Given the description of an element on the screen output the (x, y) to click on. 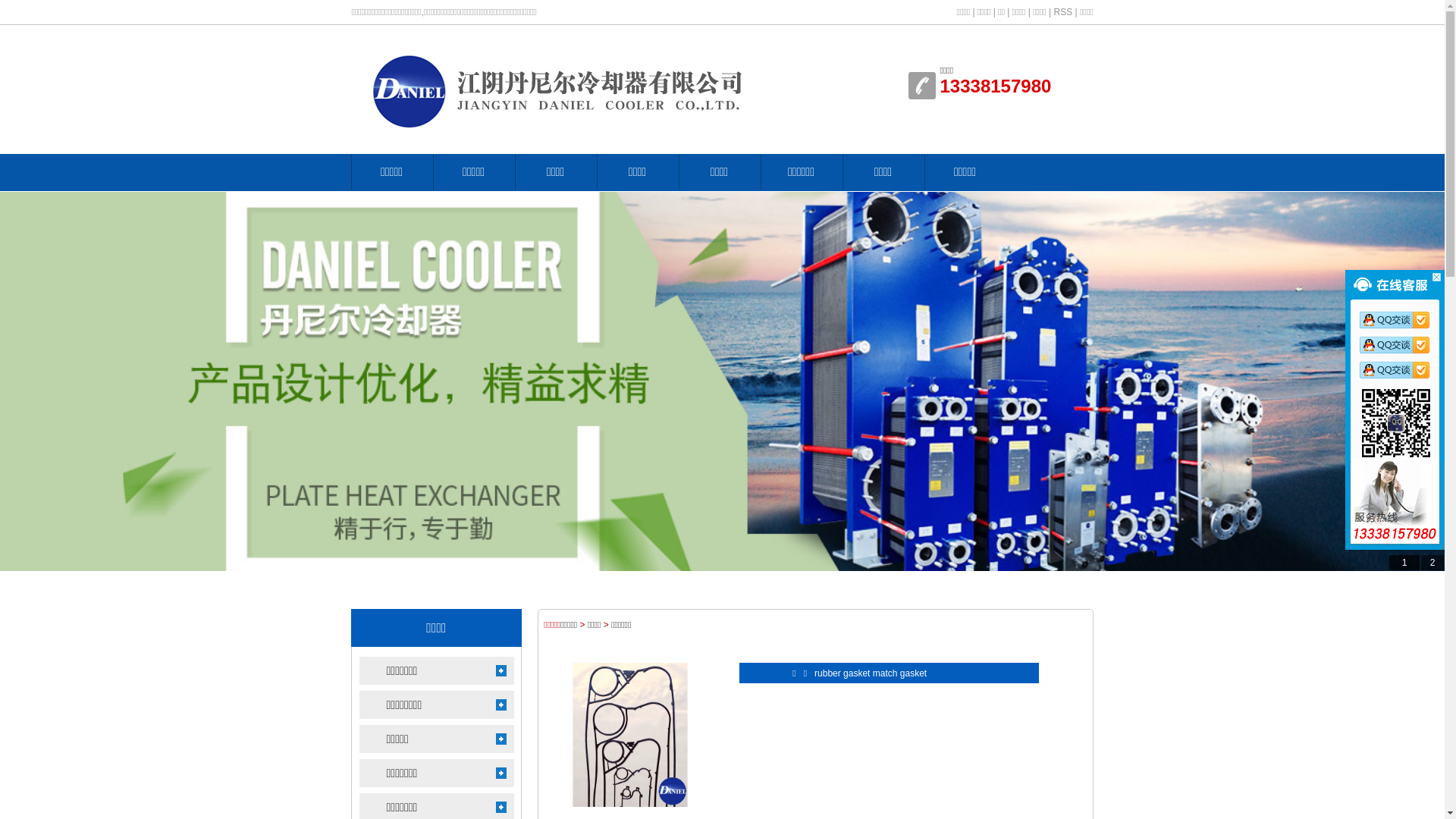
RSS Element type: text (1062, 11)
